Given the description of an element on the screen output the (x, y) to click on. 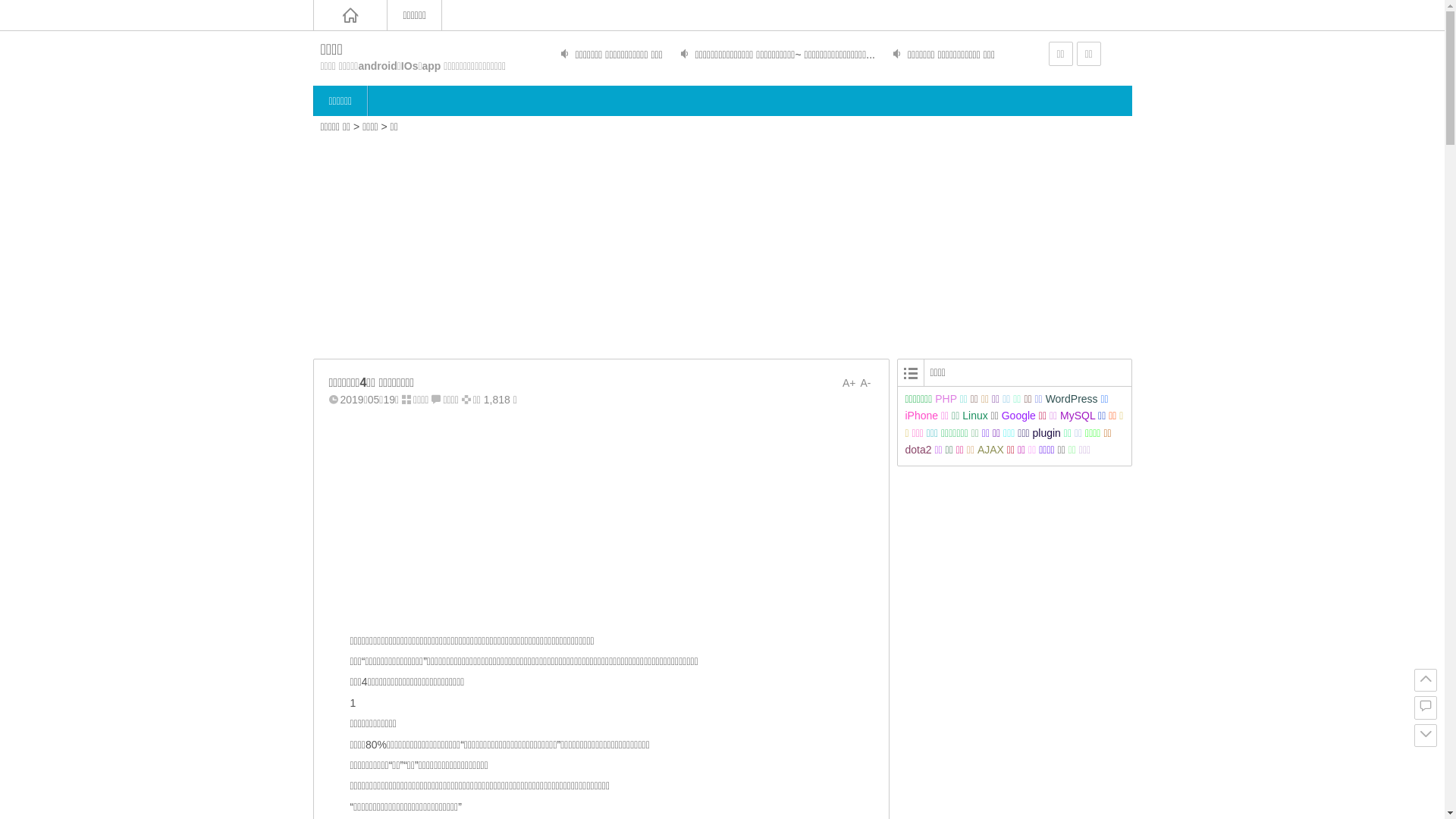
WordPress Element type: text (1071, 398)
Advertisement Element type: hover (600, 518)
PHP Element type: text (946, 398)
MySQL Element type: text (1077, 415)
plugin Element type: text (1046, 432)
Linux Element type: text (974, 415)
AJAX Element type: text (990, 449)
dota2 Element type: text (918, 449)
Advertisement Element type: hover (722, 244)
iPhone Element type: text (921, 415)
Google Element type: text (1018, 415)
